Given the description of an element on the screen output the (x, y) to click on. 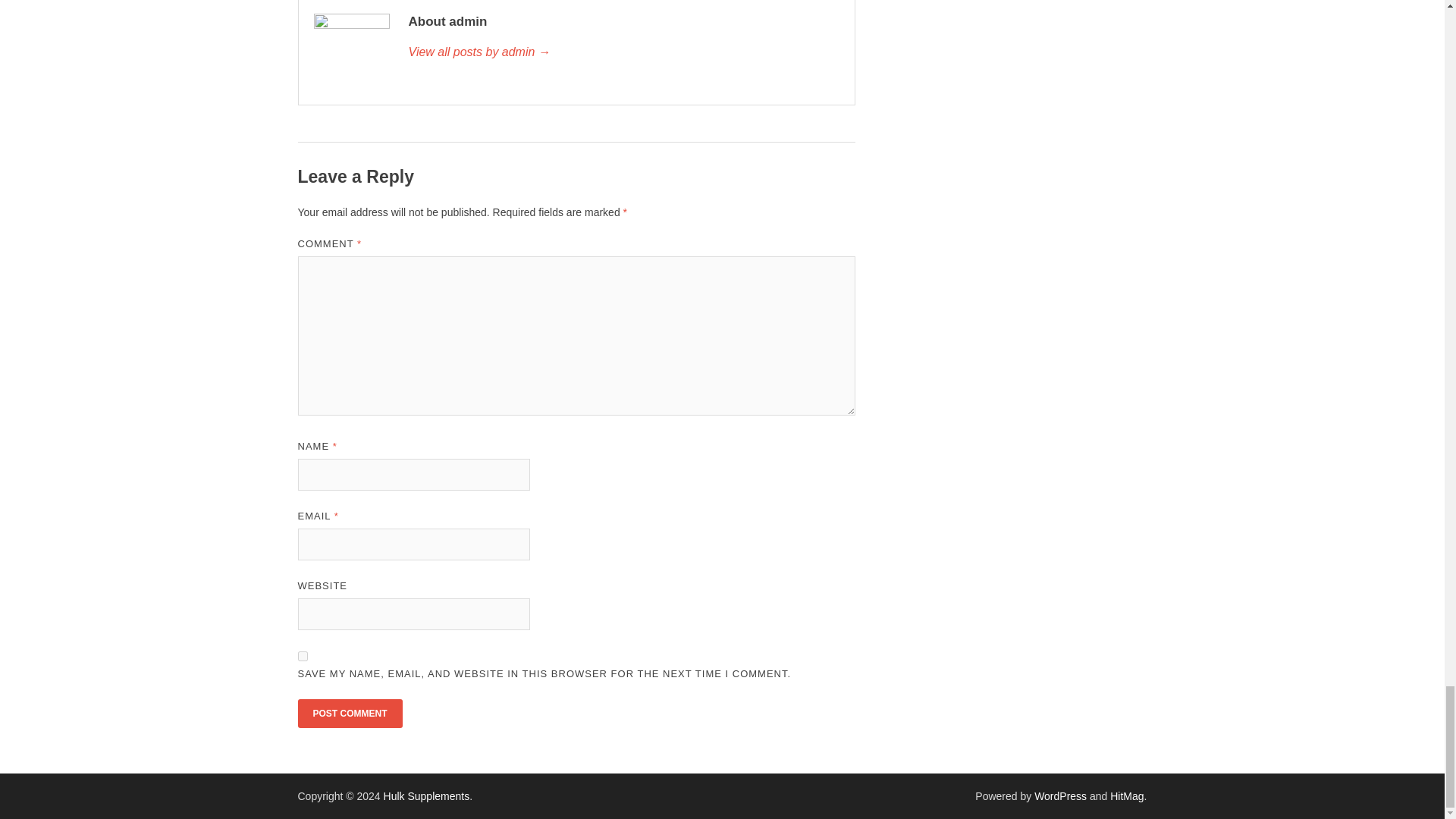
admin (622, 52)
WordPress (1059, 796)
Post Comment (349, 713)
yes (302, 655)
HitMag WordPress Theme (1125, 796)
Post Comment (349, 713)
Hulk Supplements (427, 796)
